Given the description of an element on the screen output the (x, y) to click on. 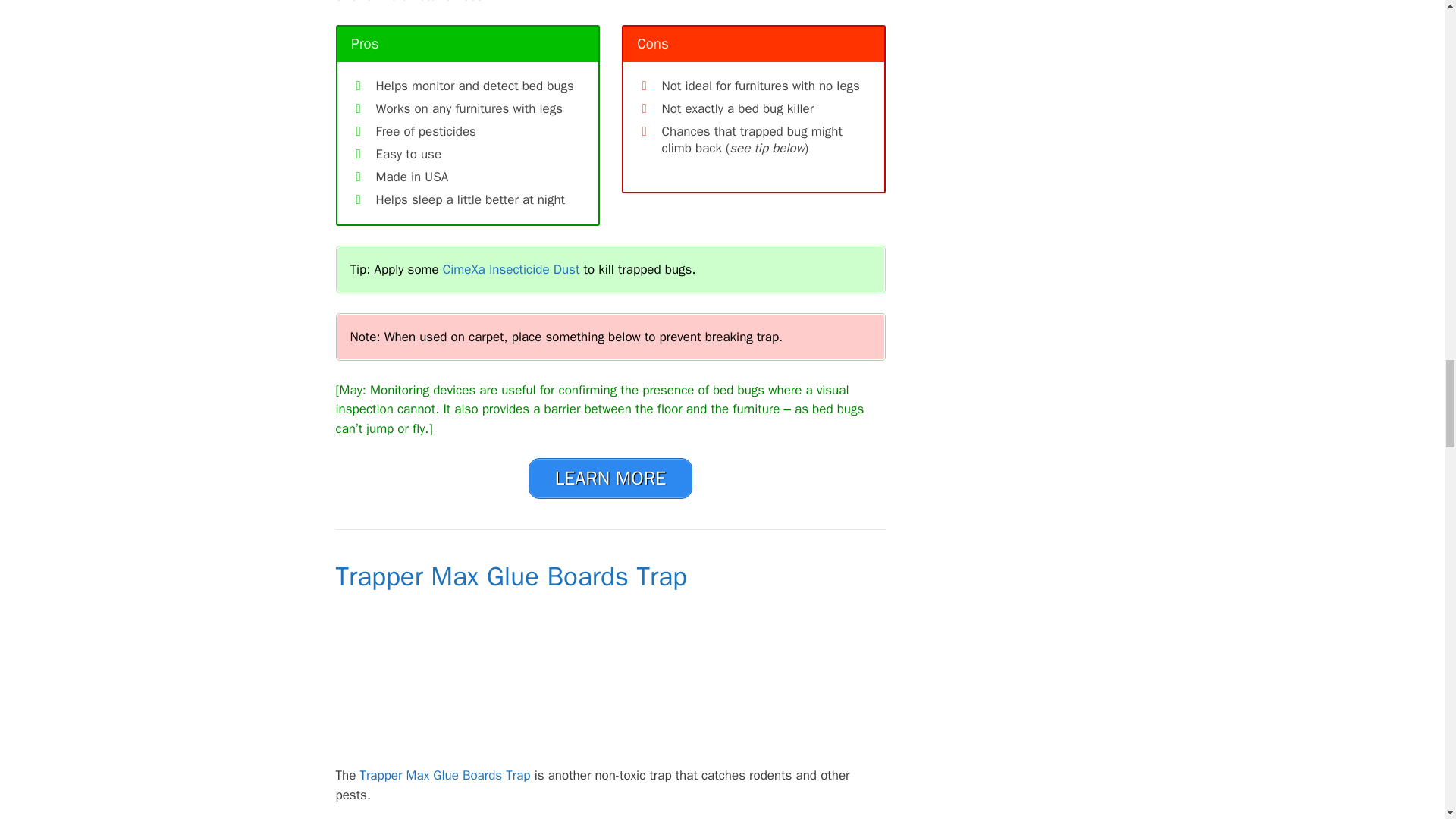
CimeXa Insecticide Dust (512, 269)
Trapper Max Glue Boards Trap (509, 575)
Trapper Max Glue Boards Trap (446, 774)
LEARN MORE (610, 477)
